Given the description of an element on the screen output the (x, y) to click on. 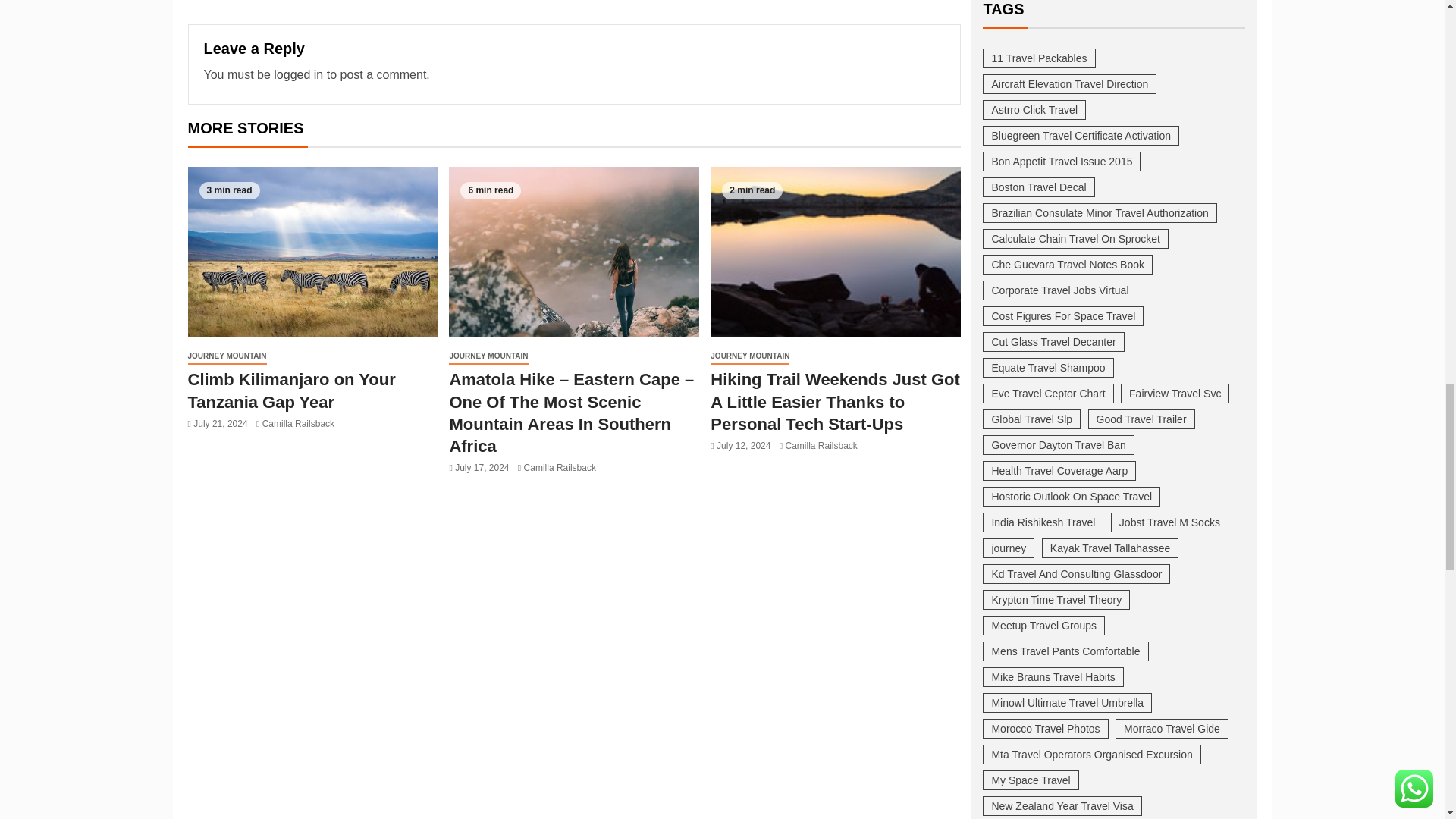
logged in (298, 74)
JOURNEY MOUNTAIN (226, 356)
Climb Kilimanjaro on Your Tanzania Gap Year (312, 252)
